Given the description of an element on the screen output the (x, y) to click on. 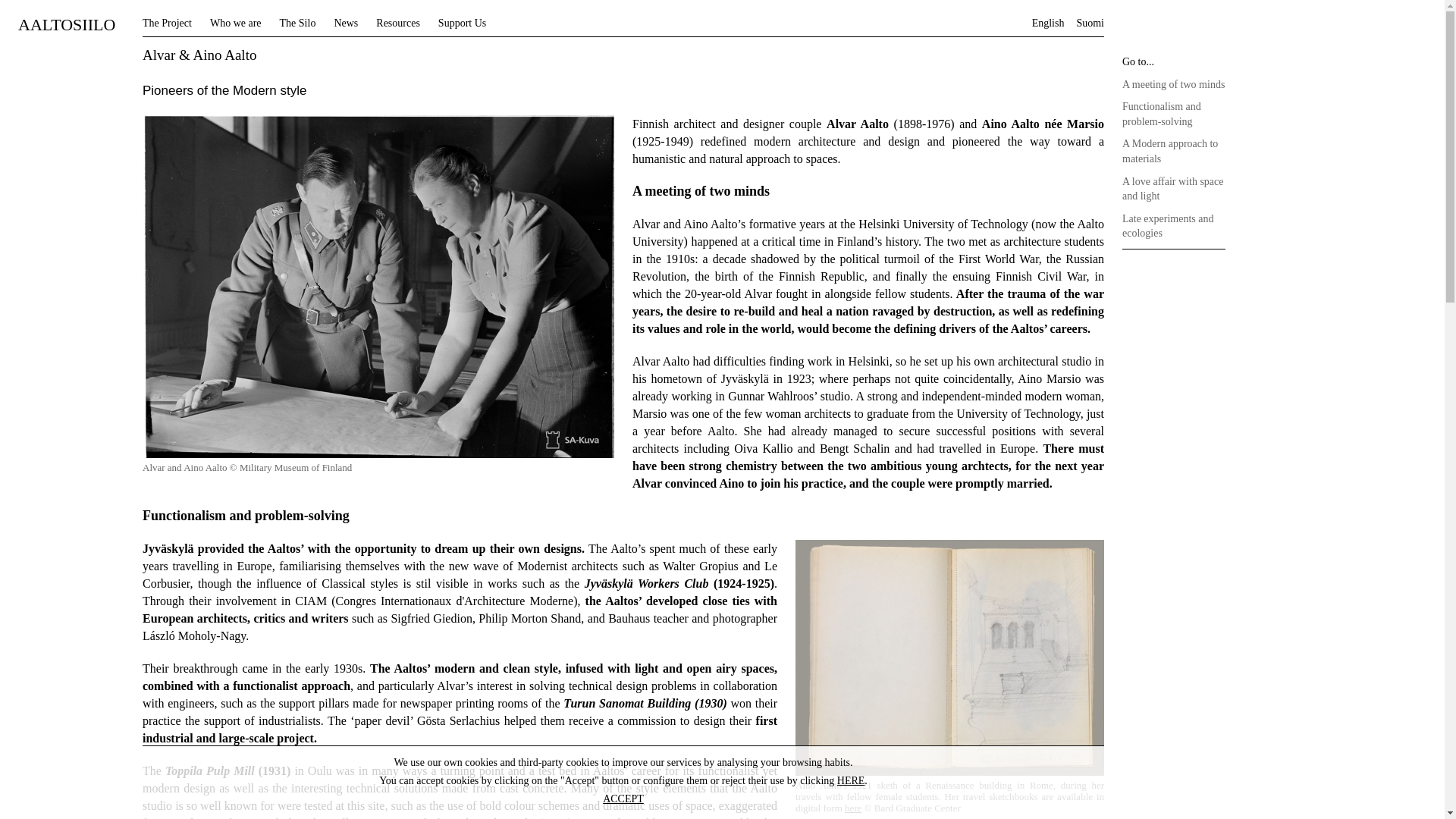
Resources (397, 23)
Suomi (1089, 23)
The Project (167, 23)
Who we are (235, 23)
Support Us (462, 23)
Who we are (235, 23)
ACCEPT (622, 798)
here (852, 808)
News (345, 23)
The Project (167, 23)
